Given the description of an element on the screen output the (x, y) to click on. 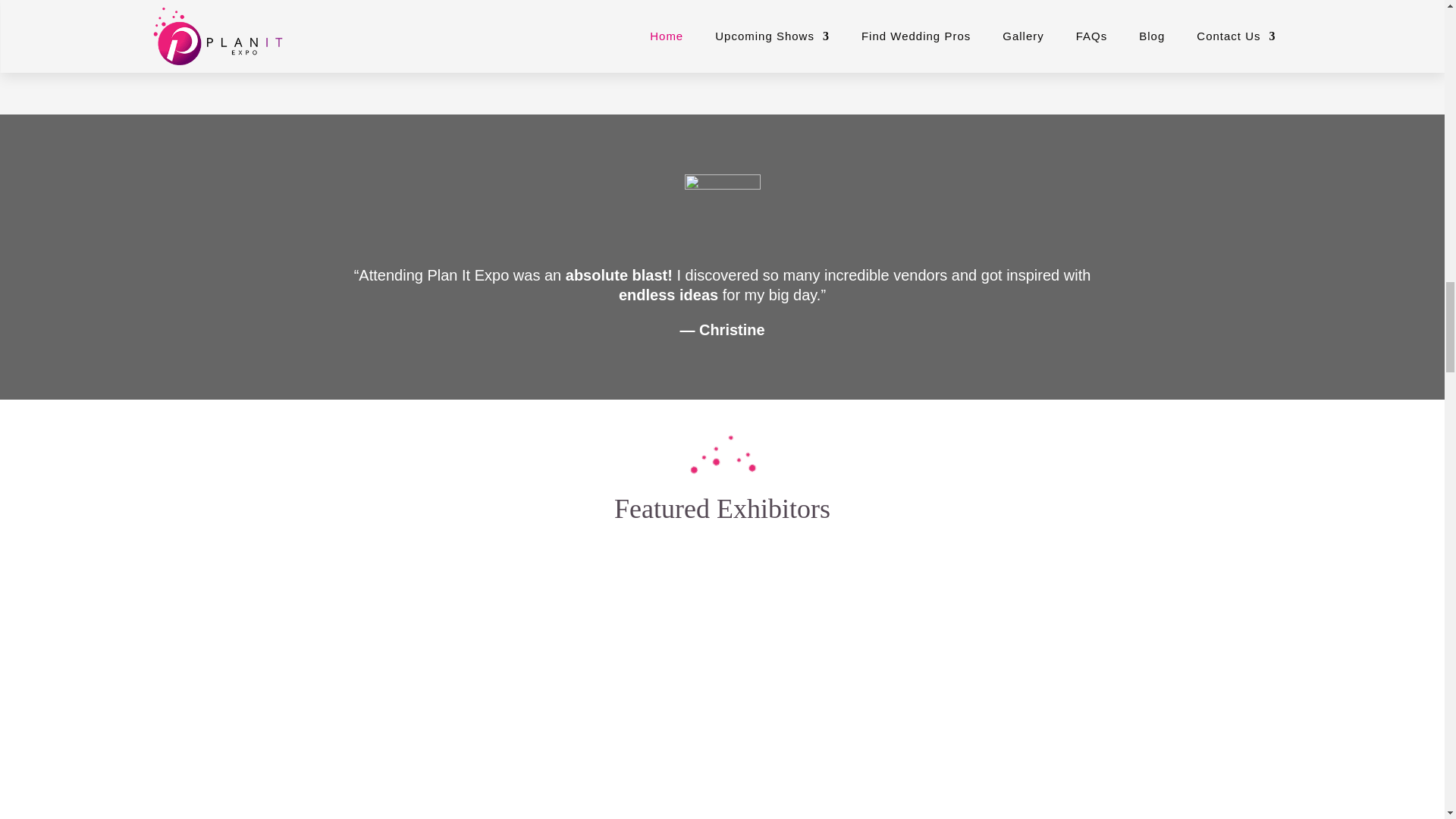
PIE-Dots-2 (722, 453)
